Given the description of an element on the screen output the (x, y) to click on. 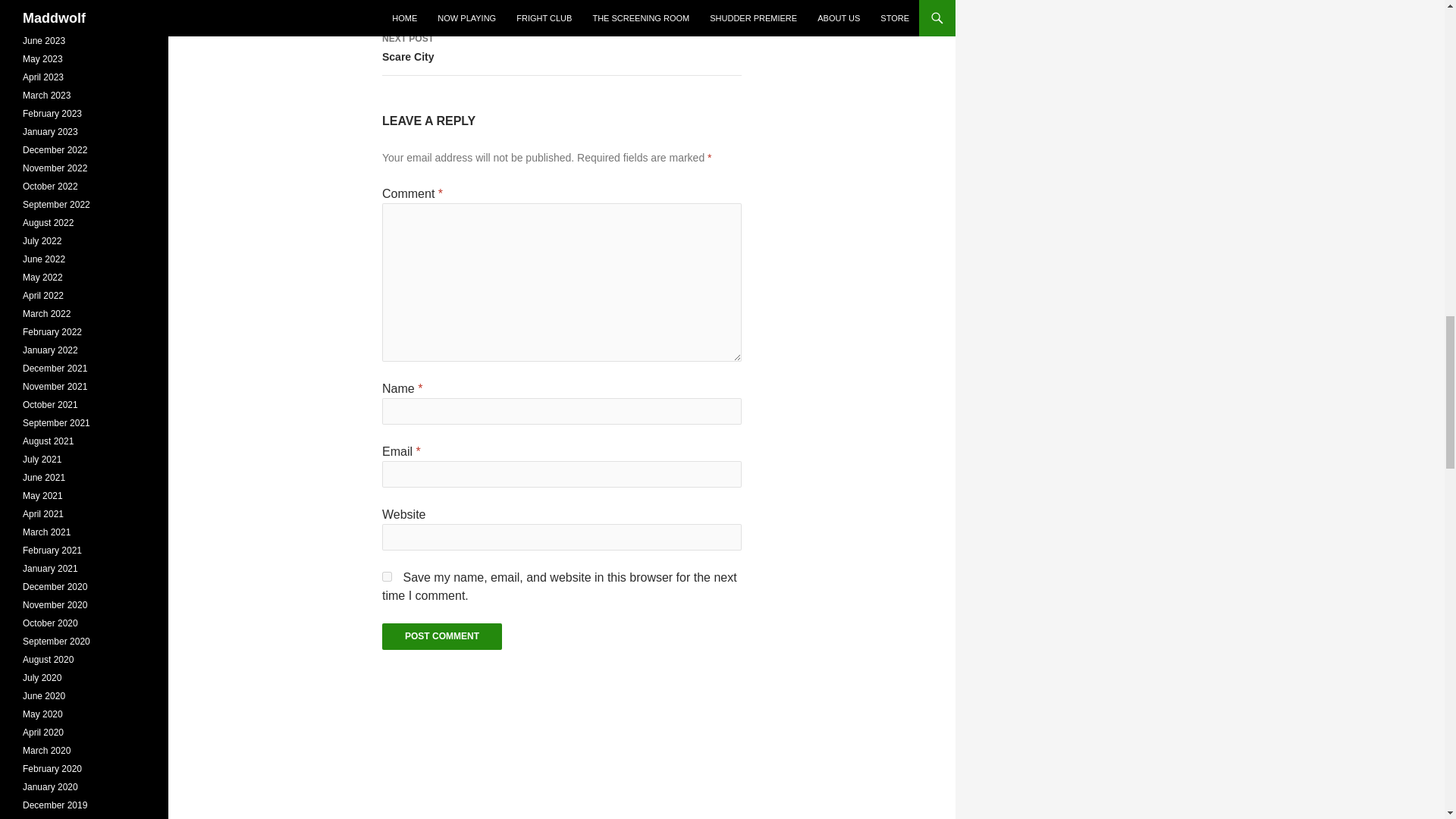
Post Comment (441, 636)
Post Comment (561, 48)
yes (441, 636)
